Given the description of an element on the screen output the (x, y) to click on. 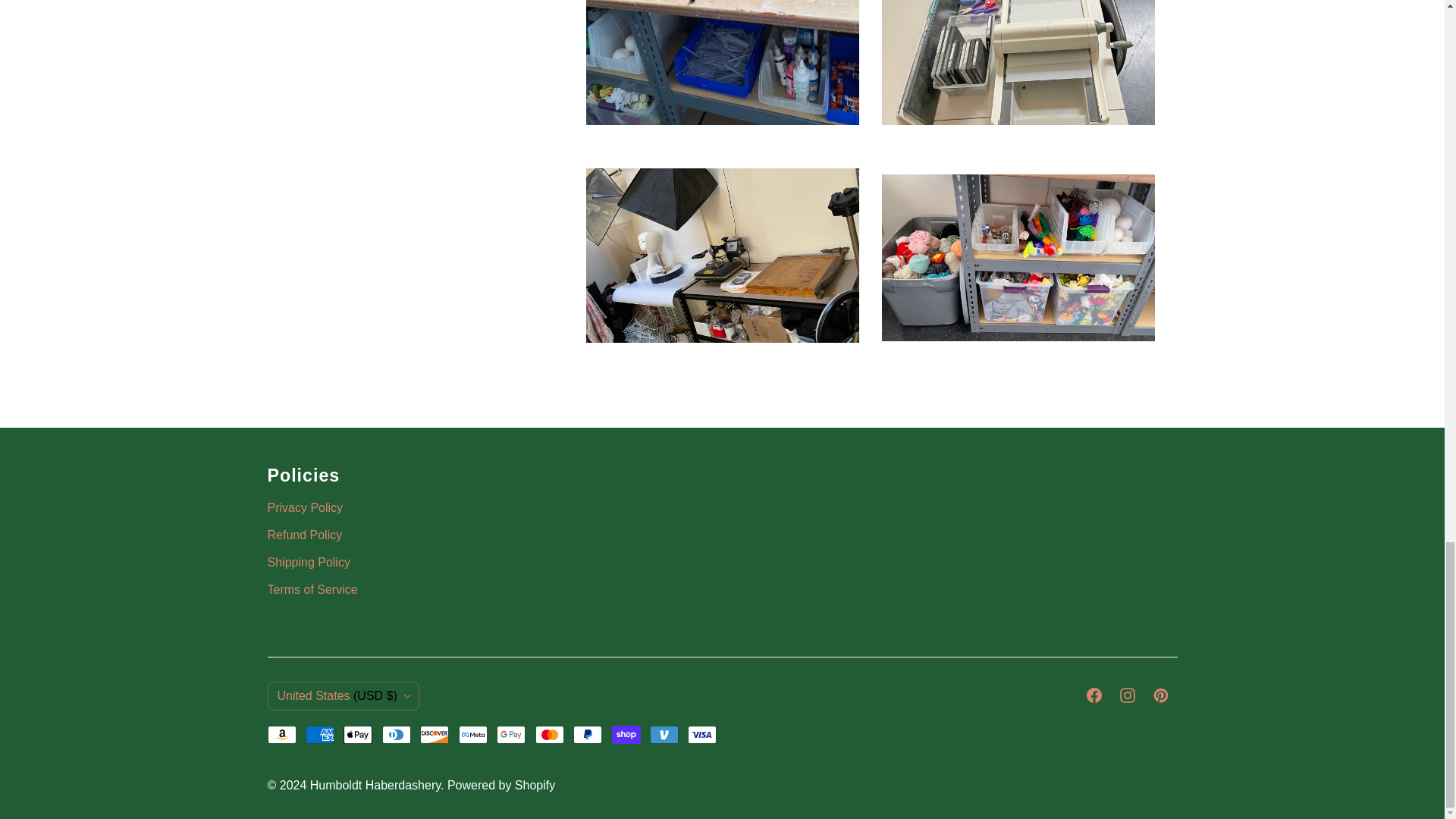
Amazon (280, 734)
PayPal (587, 734)
Venmo (663, 734)
Visa (701, 734)
American Express (319, 734)
Shop Pay (625, 734)
Meta Pay (472, 734)
Discover (434, 734)
Diners Club (395, 734)
Apple Pay (357, 734)
Google Pay (510, 734)
Mastercard (549, 734)
